Given the description of an element on the screen output the (x, y) to click on. 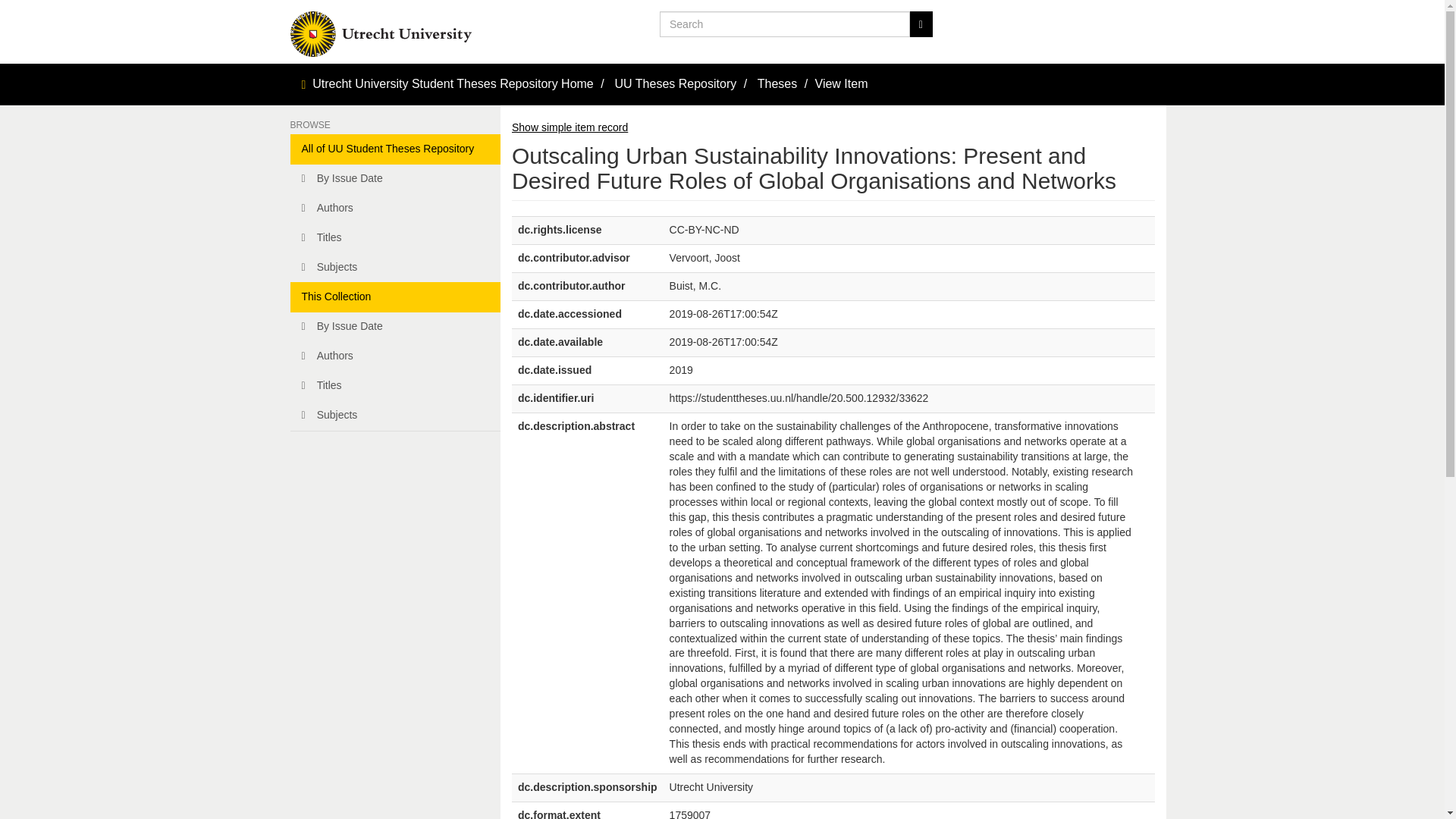
Go (920, 23)
All of UU Student Theses Repository (394, 149)
Titles (394, 237)
UU Theses Repository (675, 83)
By Issue Date (394, 327)
Subjects (394, 415)
Authors (394, 356)
Theses (776, 83)
Subjects (394, 267)
By Issue Date (394, 178)
Show simple item record (569, 127)
This Collection (394, 296)
Titles (394, 386)
Authors (394, 208)
Utrecht University Student Theses Repository Home (453, 83)
